Given the description of an element on the screen output the (x, y) to click on. 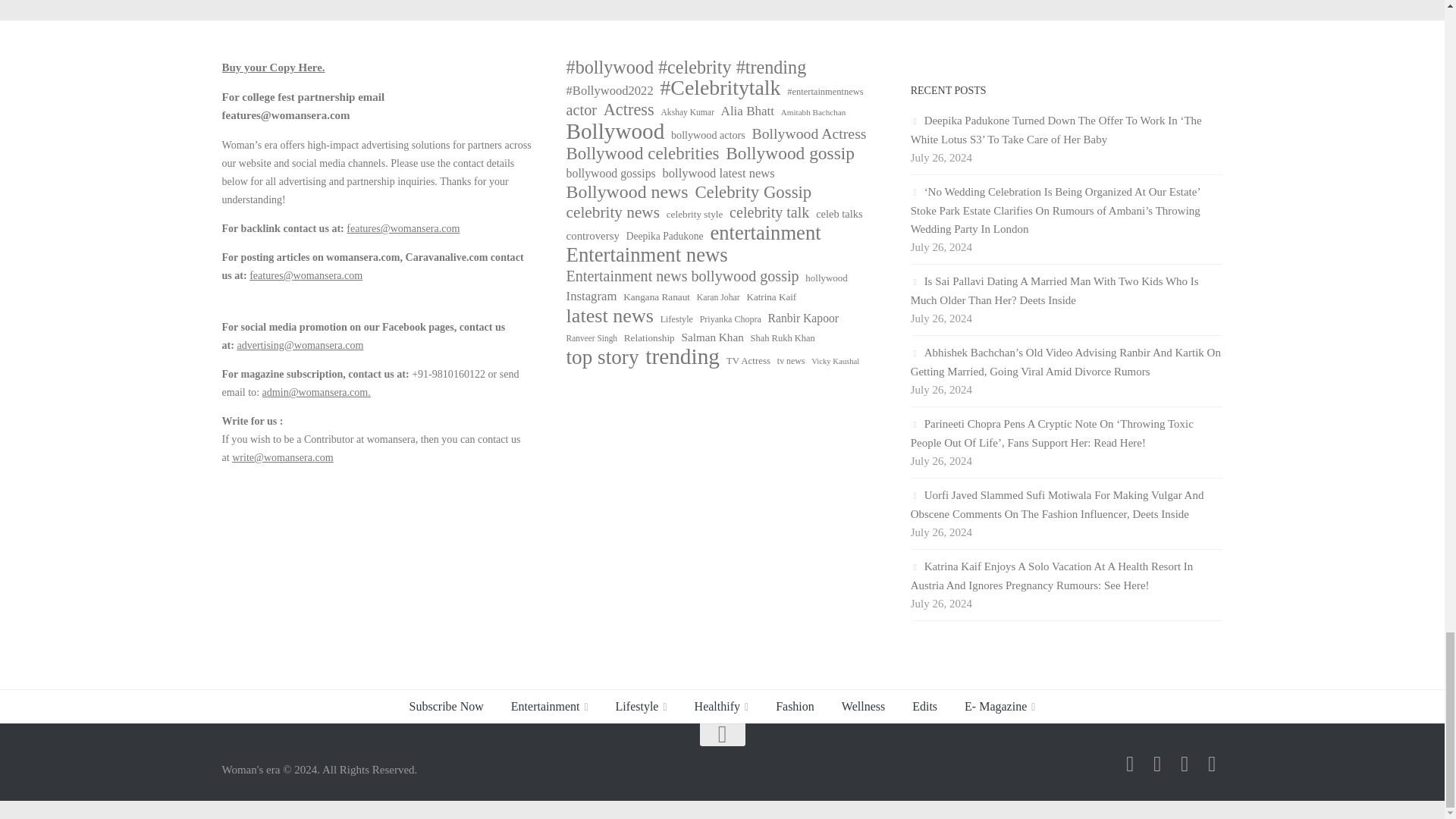
Follow us on Facebook (1129, 763)
Follow us on Twitter (1184, 763)
Follow us on Instagram (1157, 763)
Follow us on Youtube (1212, 763)
